Given the description of an element on the screen output the (x, y) to click on. 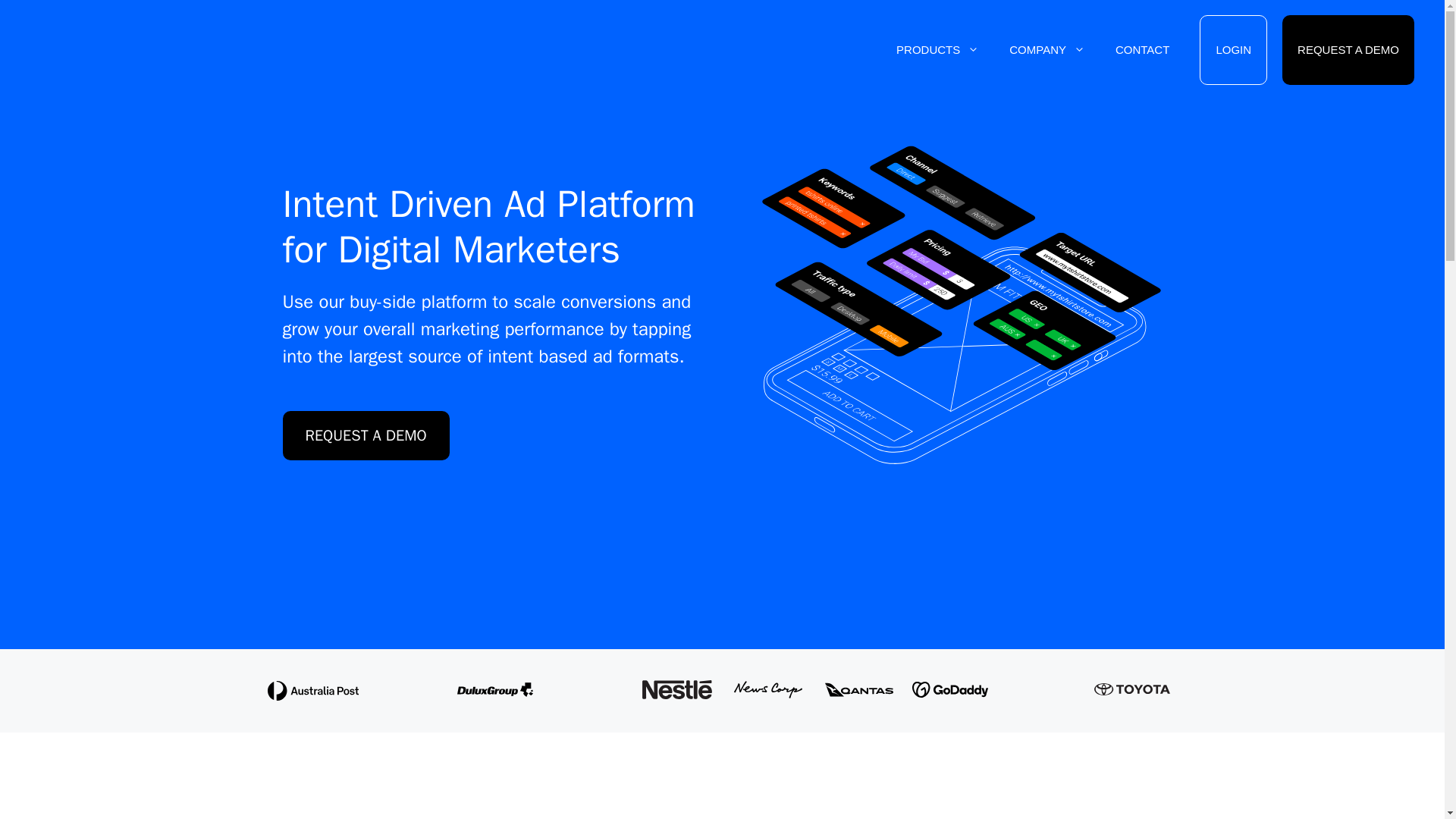
CONTACT (1142, 49)
COMPANY (1047, 49)
PRODUCTS (937, 49)
REQUEST A DEMO (365, 435)
REQUEST A DEMO (1347, 49)
LOGIN (1232, 49)
